Given the description of an element on the screen output the (x, y) to click on. 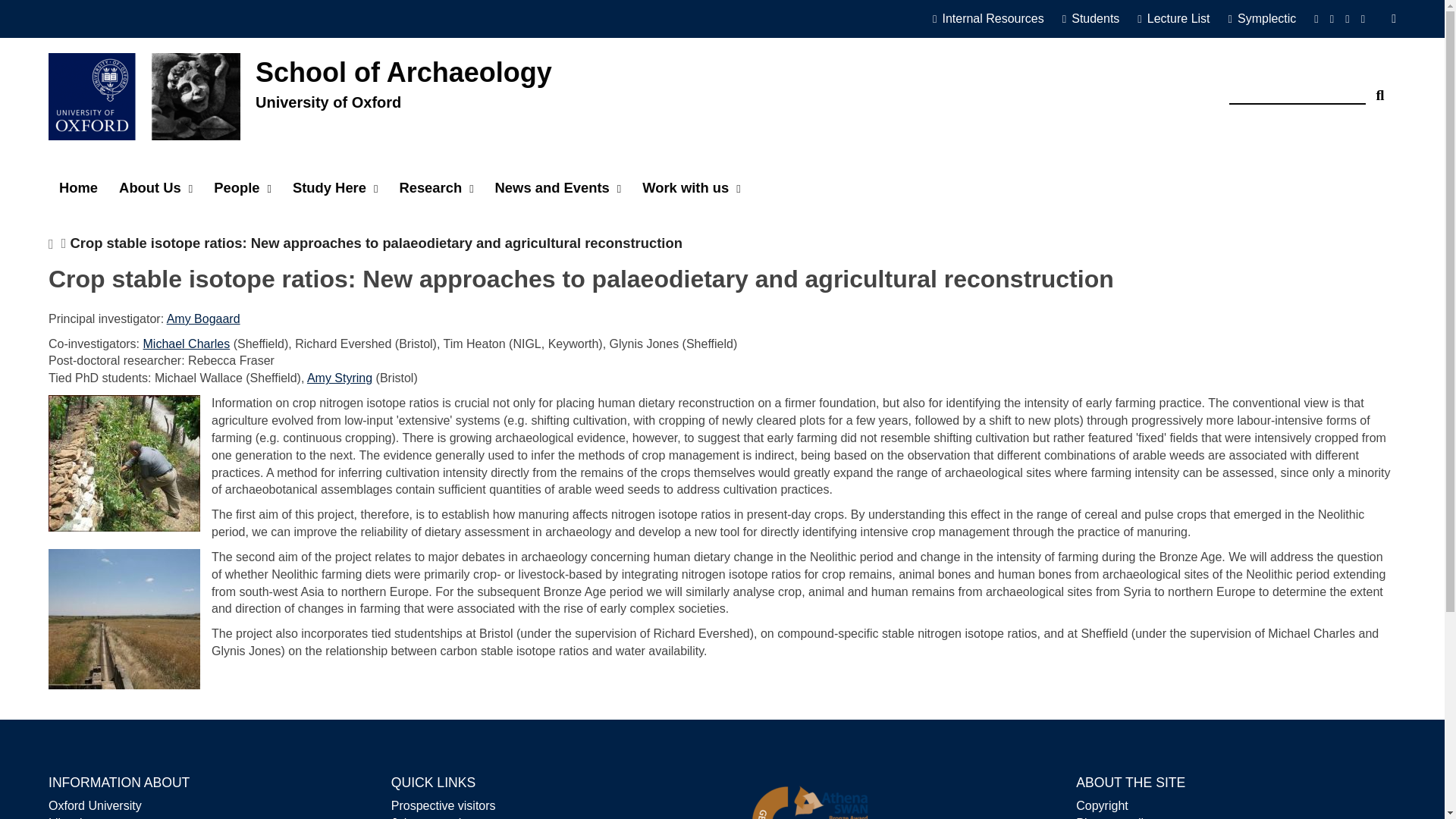
Lecture List (1179, 19)
About Us (155, 188)
Advance he membership logo standalone as bronze colour (809, 793)
Intranet (995, 19)
Bogaard 5 crop 1 484c93fb (124, 462)
Canvas (1097, 19)
School of Archaeology (403, 72)
Bogaard 6 crop 2 307934b4 (124, 618)
Search (1379, 89)
Home (77, 188)
